Given the description of an element on the screen output the (x, y) to click on. 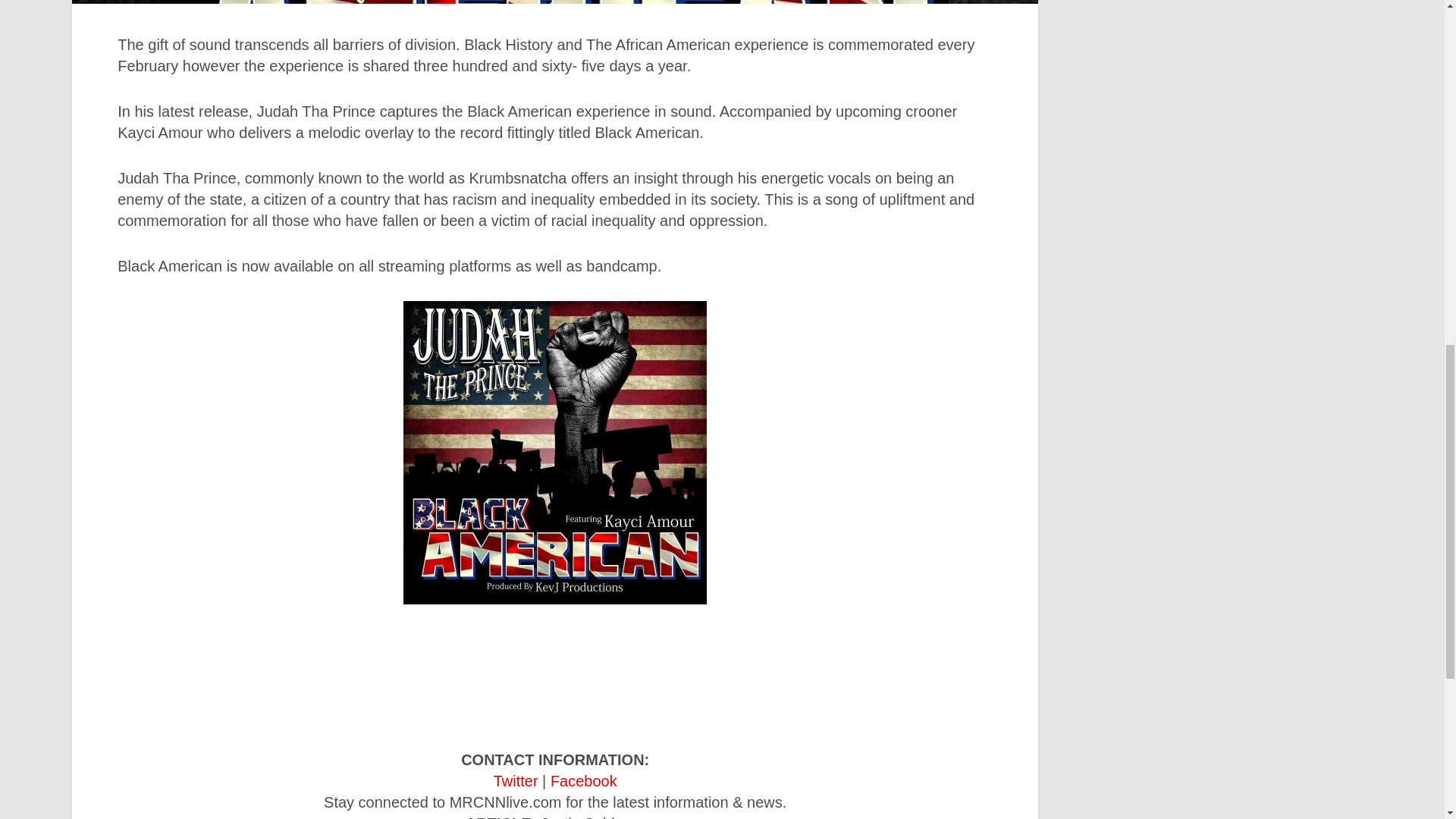
Facebook (583, 781)
Twitter (515, 781)
